Given the description of an element on the screen output the (x, y) to click on. 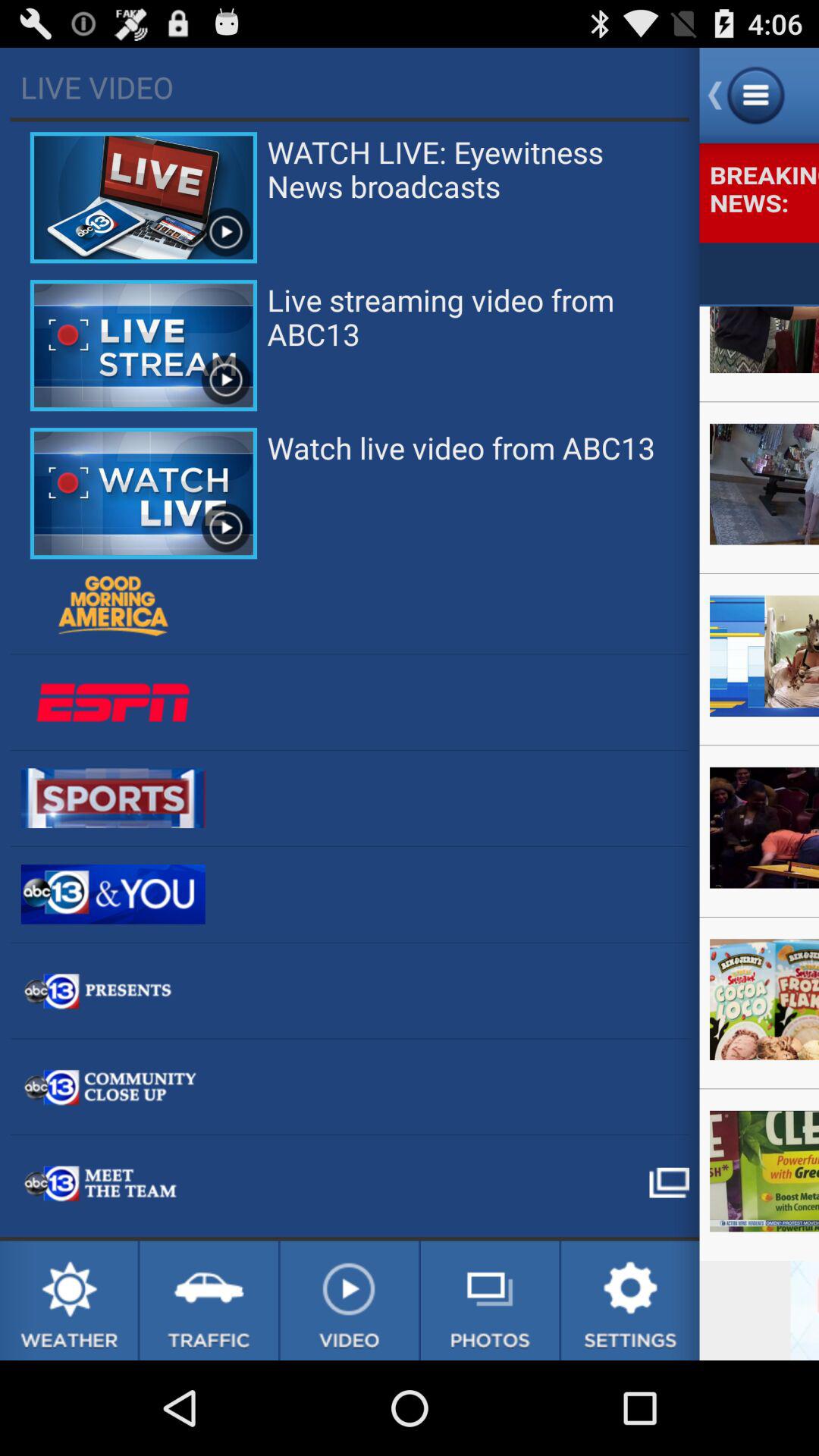
no (349, 1300)
